Given the description of an element on the screen output the (x, y) to click on. 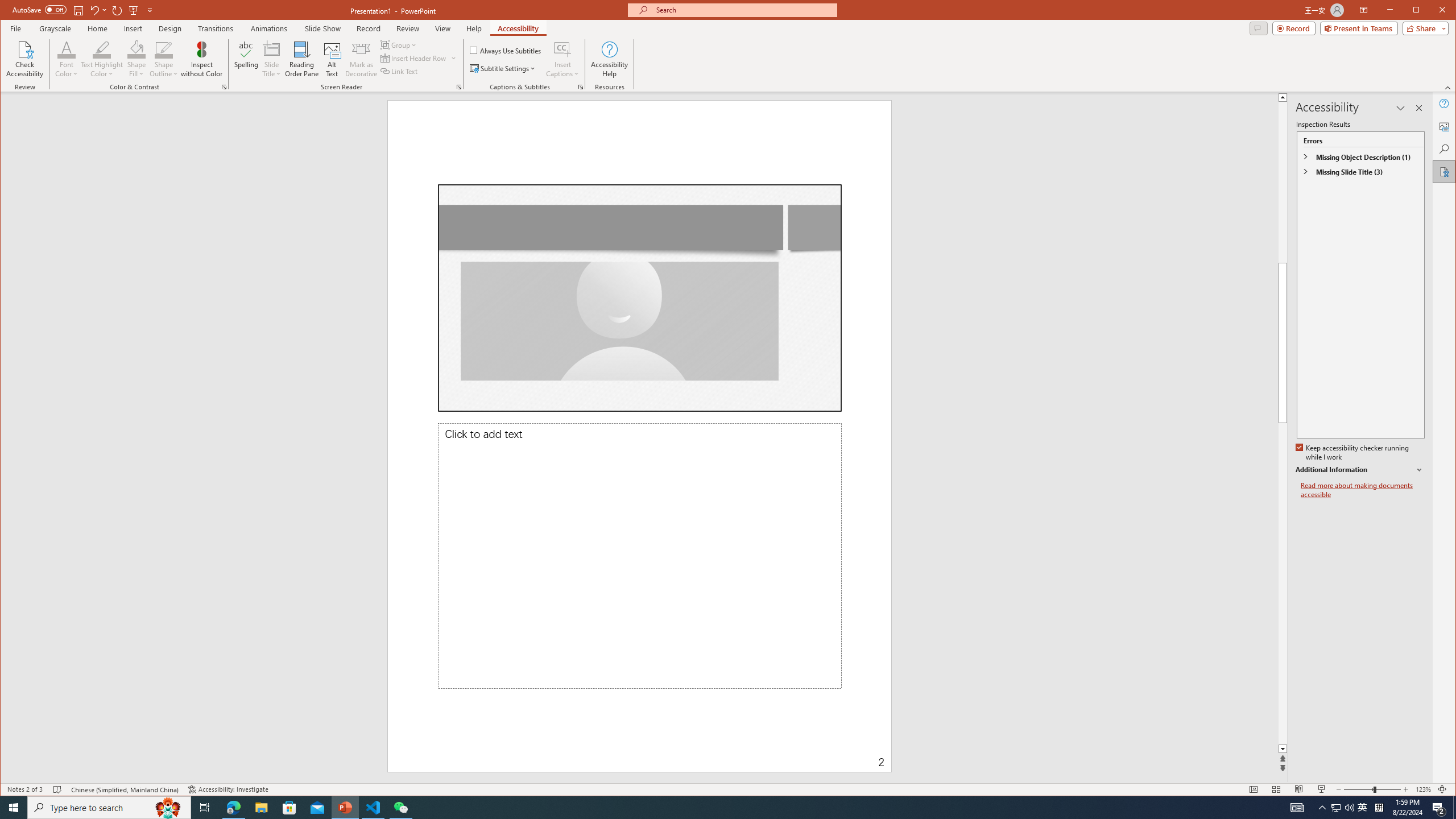
Inspect without Color (201, 59)
Accessibility Help (608, 59)
Always Use Subtitles (505, 49)
